Given the description of an element on the screen output the (x, y) to click on. 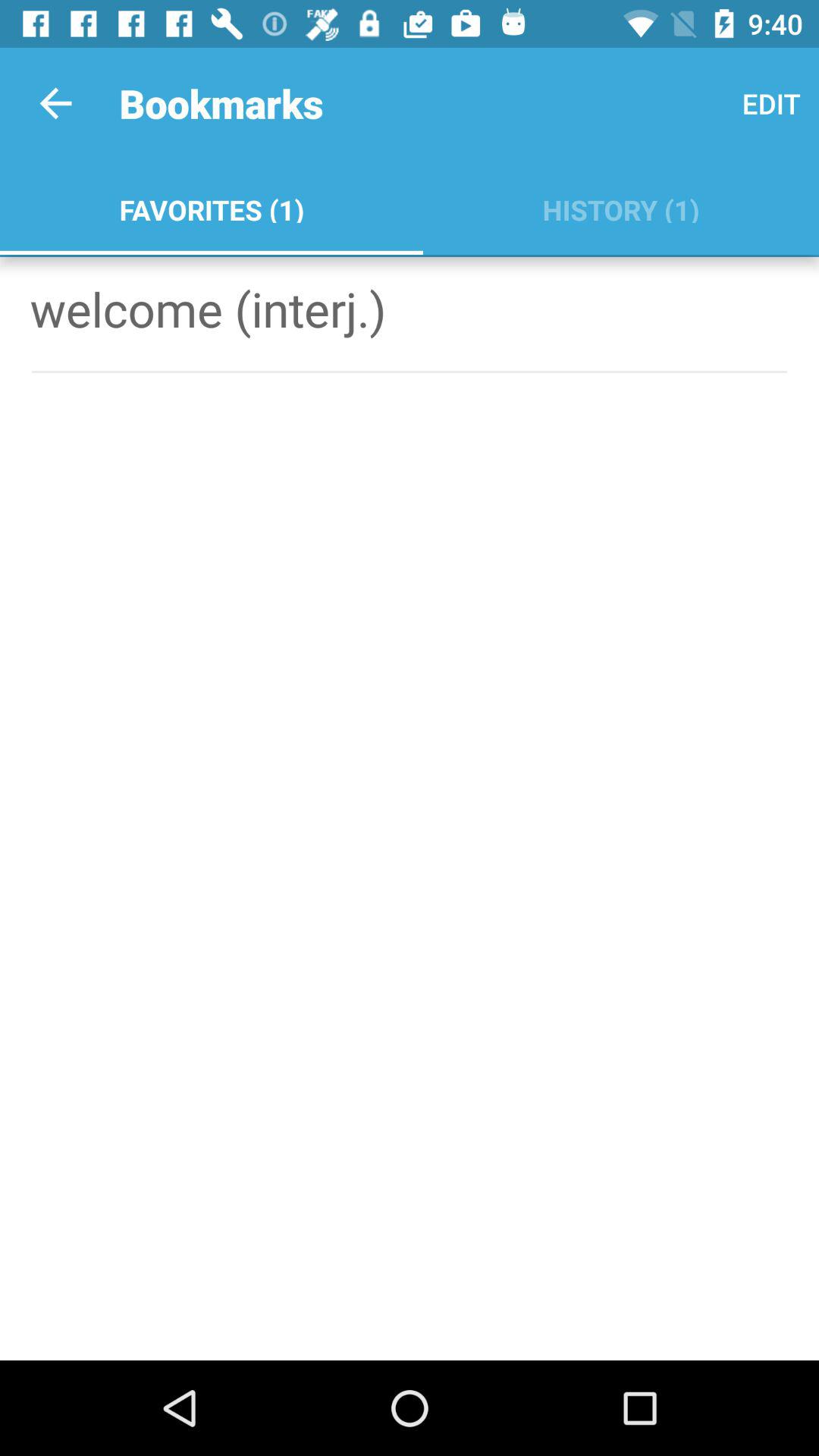
click icon to the right of favorites (1) app (771, 103)
